Given the description of an element on the screen output the (x, y) to click on. 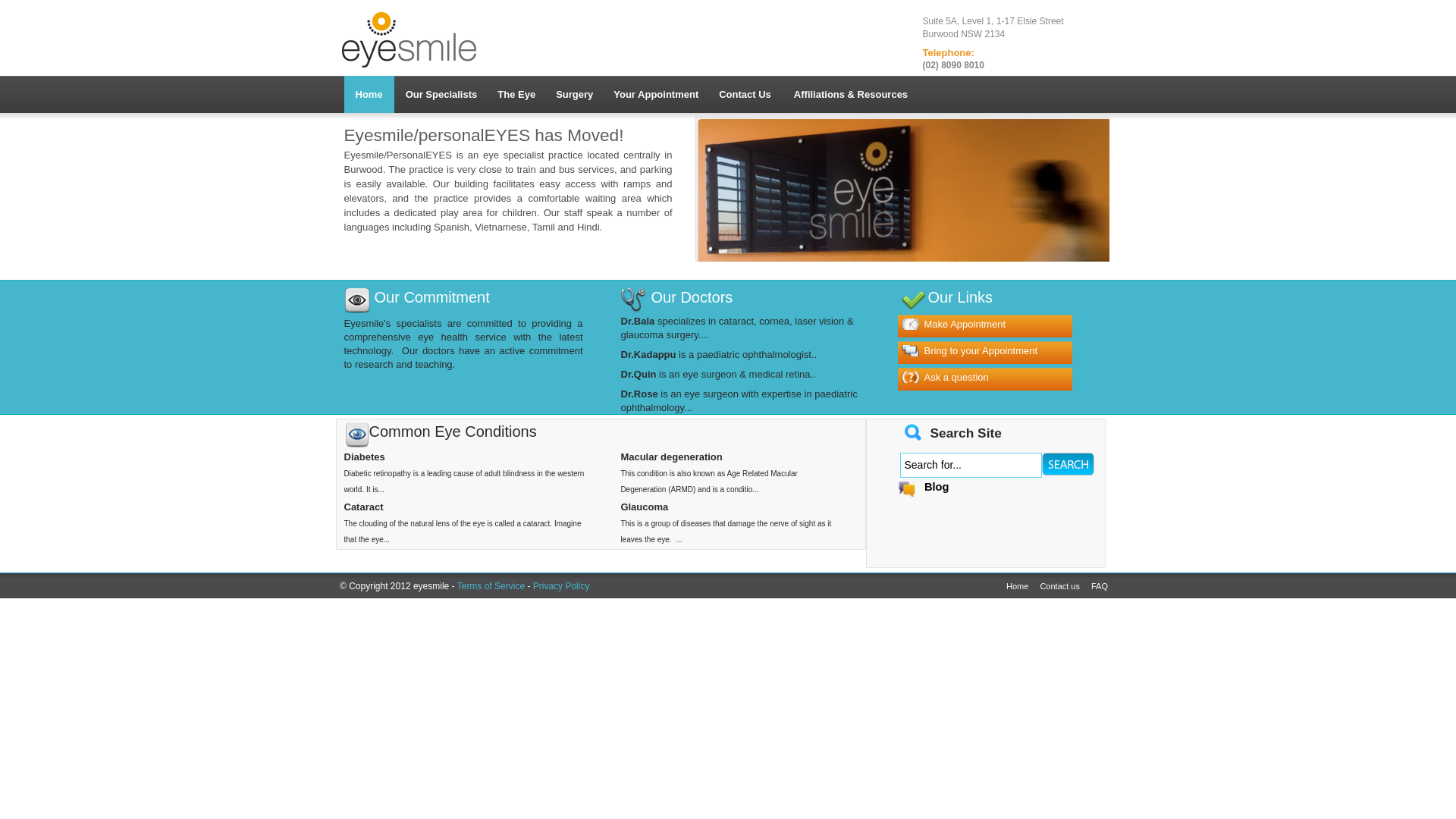
Surgery Element type: text (573, 93)
Bring to your Appointment Element type: text (968, 350)
Contact Us Element type: text (744, 93)
Cataract Element type: text (363, 506)
FAQ Element type: text (1103, 585)
The Eye Element type: text (515, 93)
Glaucoma Element type: text (644, 506)
Macular degeneration Element type: text (670, 456)
Contact us Element type: text (1063, 585)
Your Appointment Element type: text (654, 93)
Ask a question Element type: text (944, 376)
Our Specialists Element type: text (440, 93)
Dr.Kadappu is a paediatric ophthalmologist.. Element type: text (718, 354)
Enter the terms you wish to search for. Element type: hover (970, 464)
Home Element type: text (1021, 585)
Affiliations & Resources Element type: text (850, 93)
Home Element type: text (369, 93)
Dr.Quin is an eye surgeon & medical retina.. Element type: text (717, 373)
Diabetes Element type: text (364, 456)
Terms of Service Element type: text (490, 585)
Home Element type: hover (420, 72)
Privacy Policy Element type: text (559, 585)
Make Appointment Element type: text (952, 323)
Blog Element type: text (923, 487)
